Given the description of an element on the screen output the (x, y) to click on. 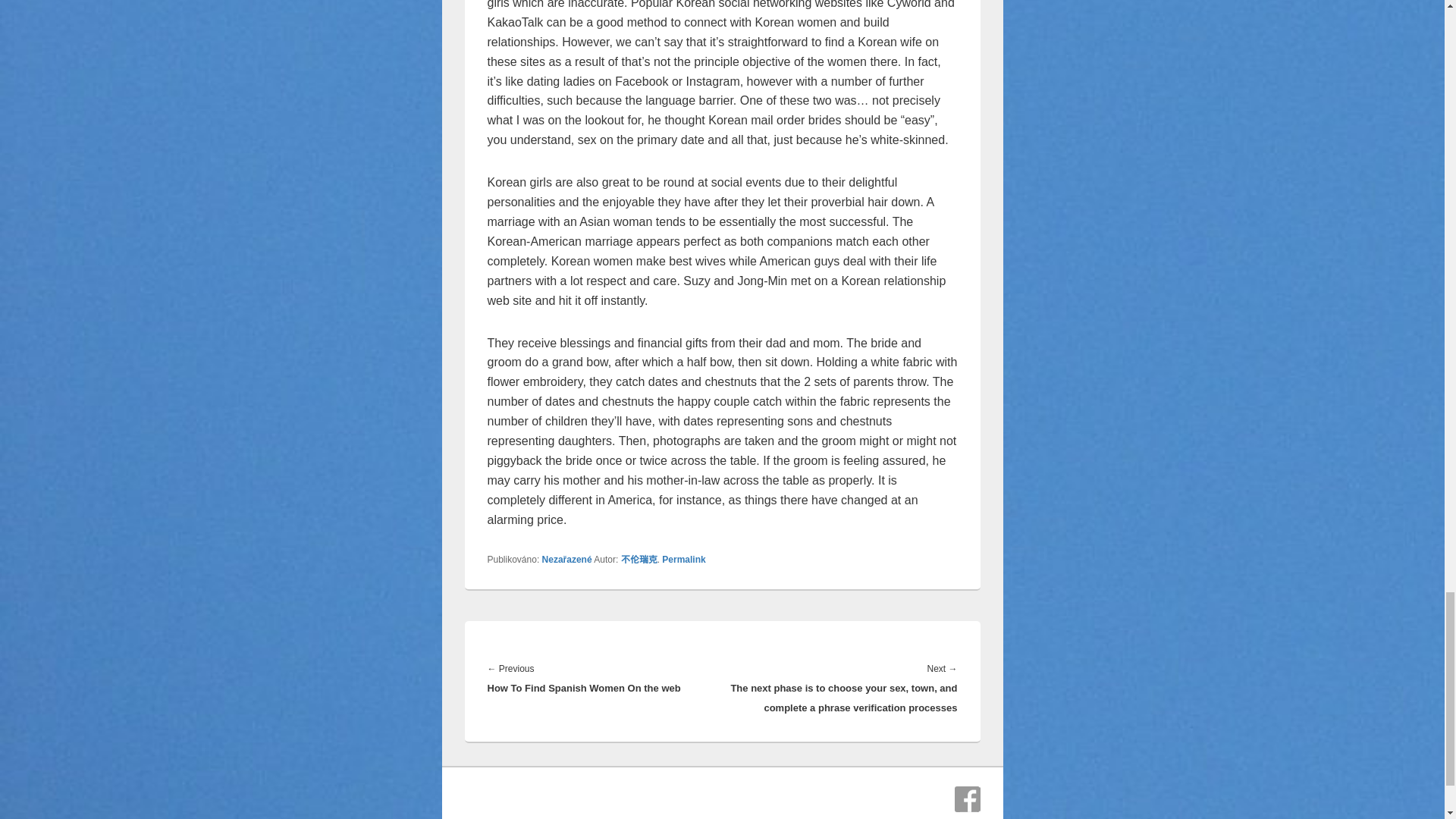
Permalink (683, 559)
